Given the description of an element on the screen output the (x, y) to click on. 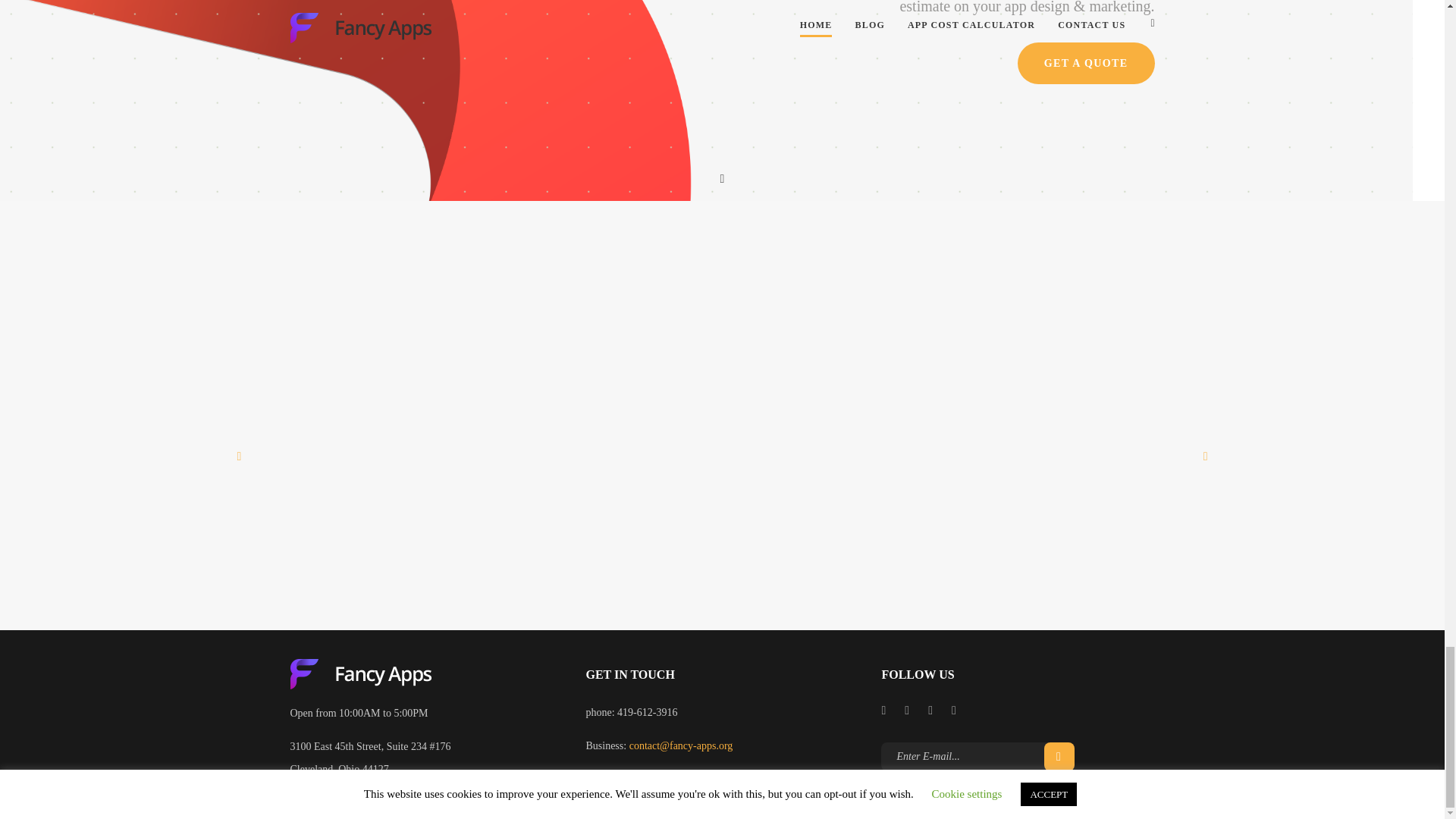
GET A QUOTE (1085, 63)
Get a Quote (1085, 63)
